Given the description of an element on the screen output the (x, y) to click on. 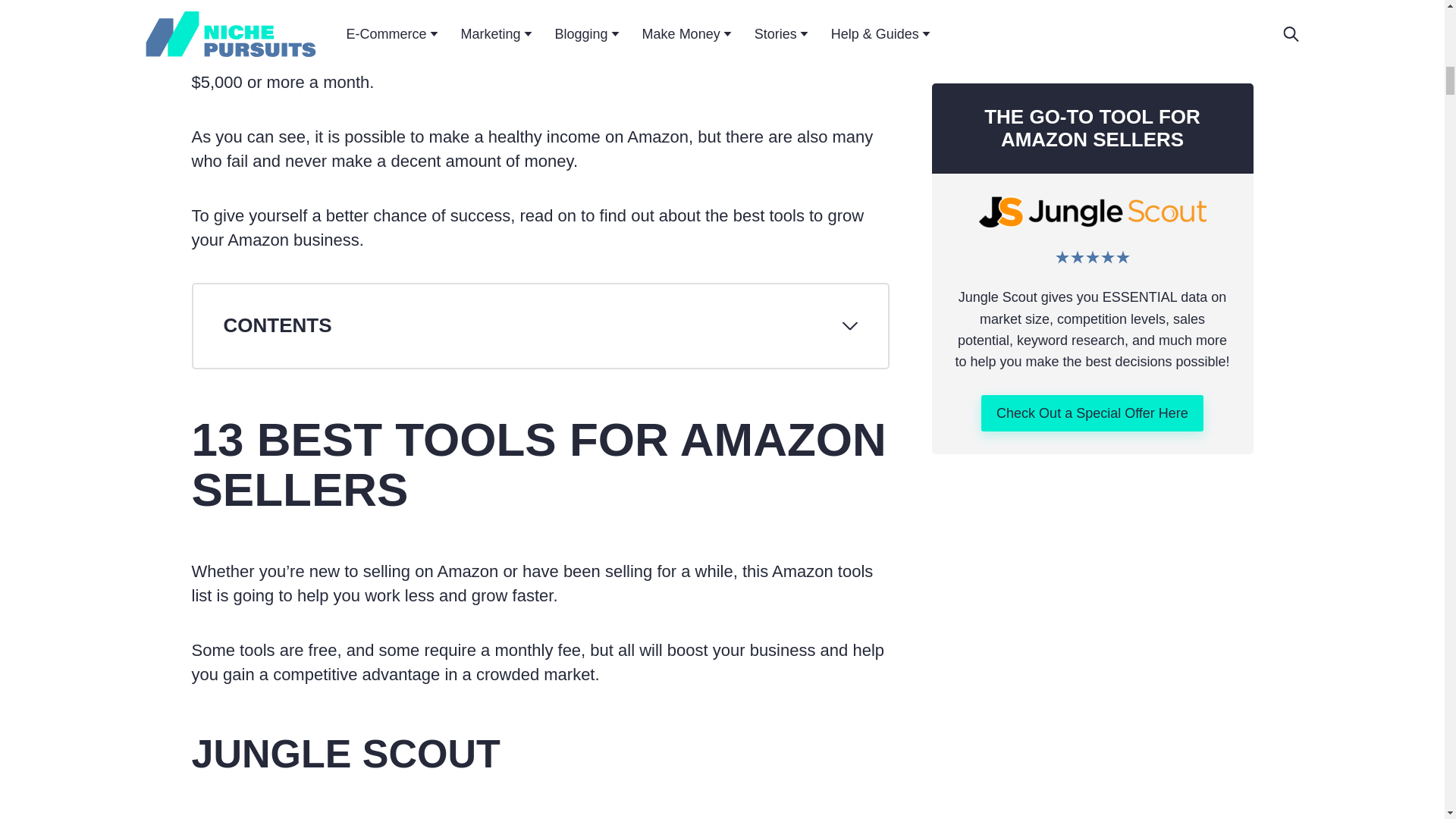
SHOW (539, 325)
